Given the description of an element on the screen output the (x, y) to click on. 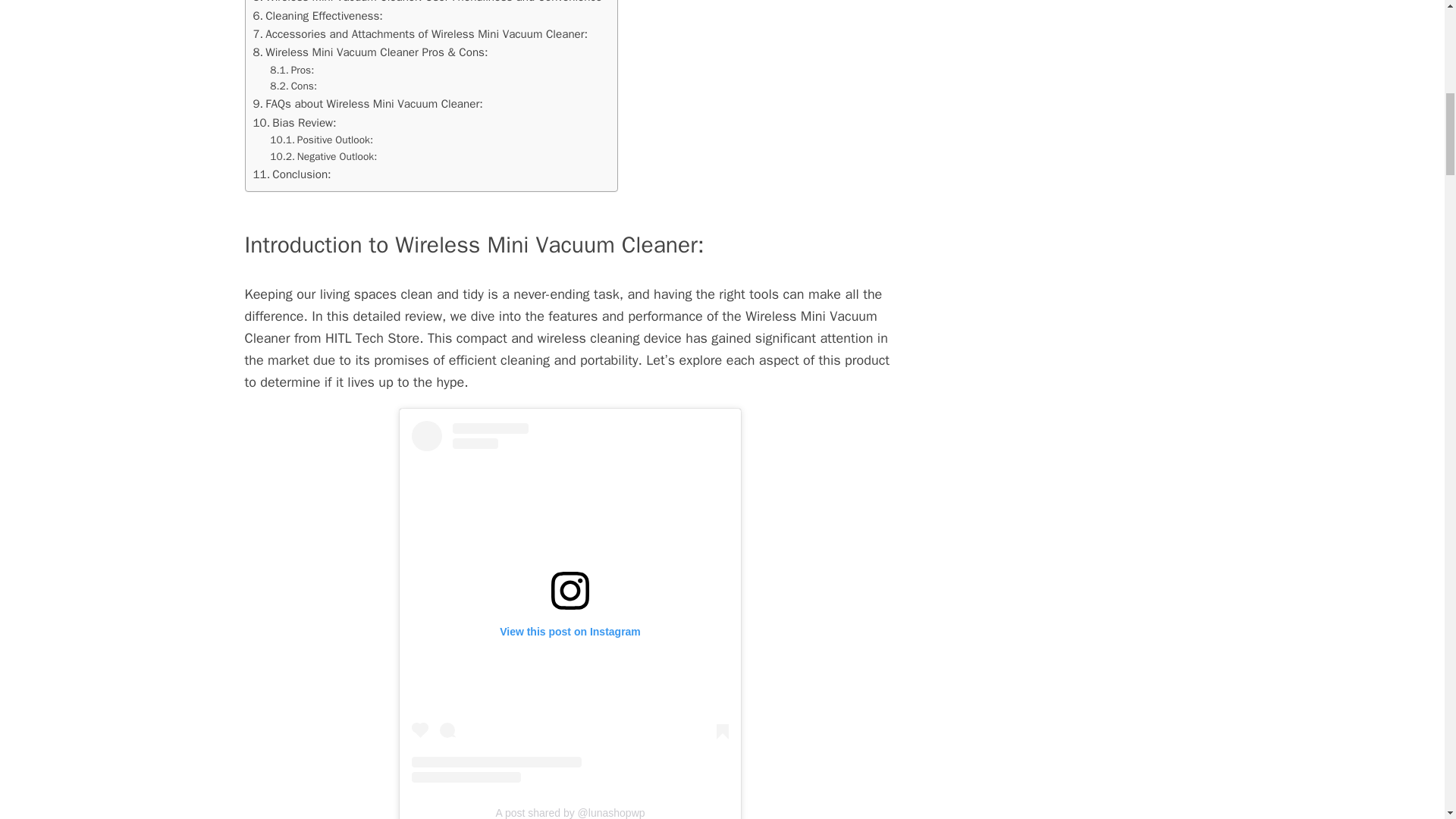
Positive Outlook: (320, 139)
Cons: (293, 86)
Accessories and Attachments of Wireless Mini Vacuum Cleaner: (420, 34)
Conclusion: (292, 174)
FAQs about Wireless Mini Vacuum Cleaner: (368, 104)
Negative Outlook: (323, 156)
Cleaning Effectiveness: (317, 15)
Positive Outlook: (320, 139)
Negative Outlook: (323, 156)
